Given the description of an element on the screen output the (x, y) to click on. 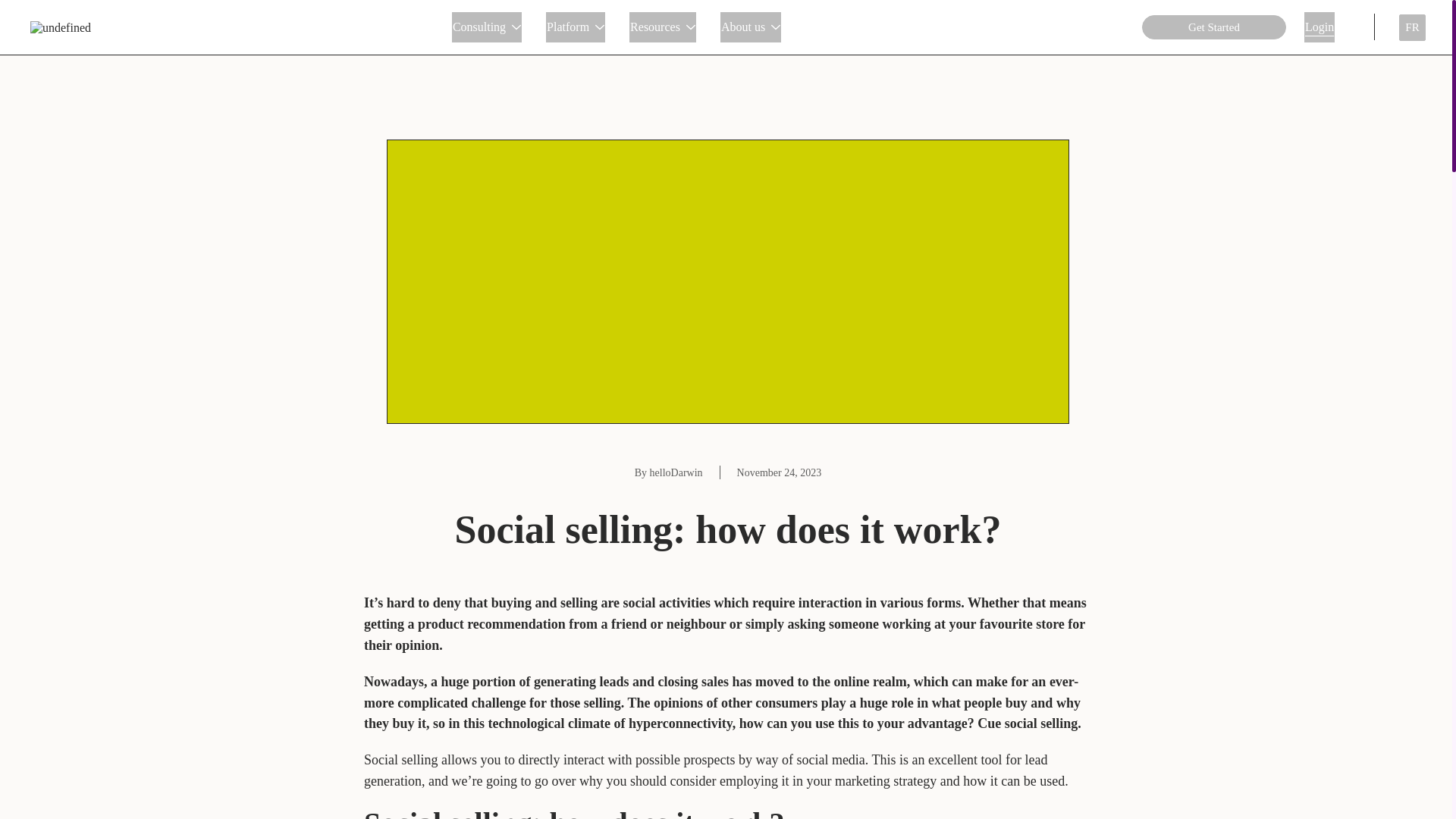
Get Started (1213, 27)
Platform (575, 27)
Consulting (486, 27)
Login (1319, 27)
Resources (661, 27)
About us (750, 27)
FR (1412, 26)
